Given the description of an element on the screen output the (x, y) to click on. 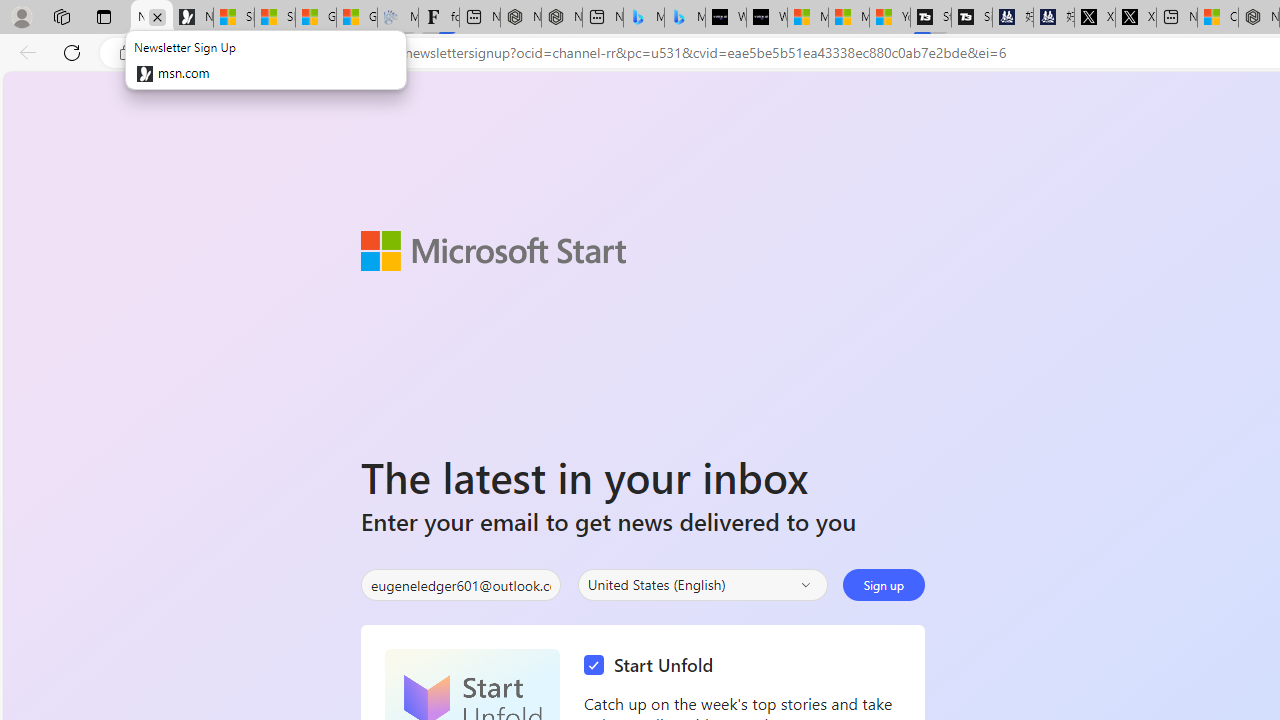
Enter your email (460, 585)
Start Unfold (653, 665)
Select your country (702, 584)
Microsoft Bing Travel - Stays in Bangkok, Bangkok, Thailand (643, 17)
